Given the description of an element on the screen output the (x, y) to click on. 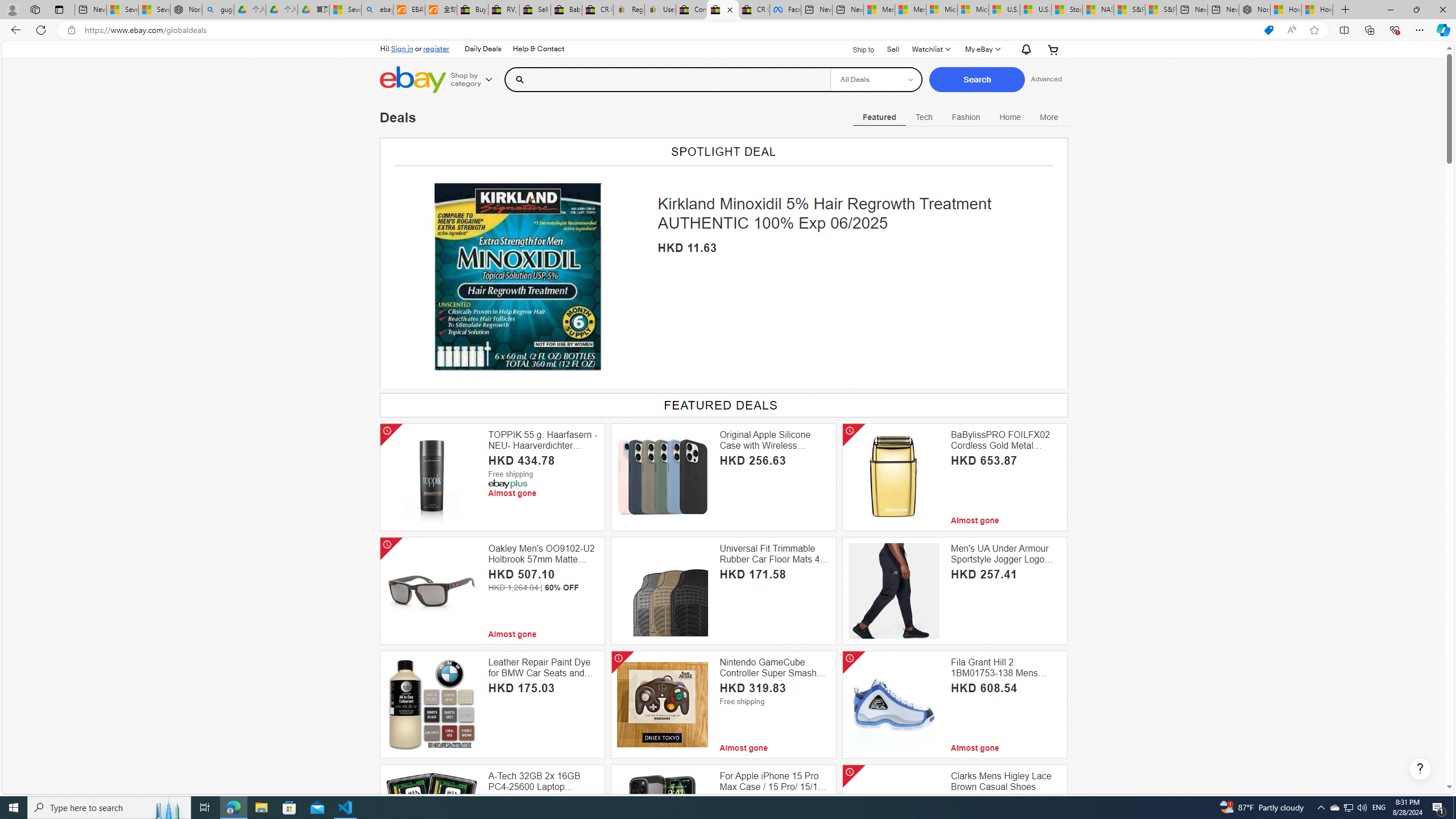
How to Use a Monitor With Your Closed Laptop (1317, 9)
Notifications (1023, 49)
Expand Cart (1052, 49)
Daily Deals on eBay | Best deals and Free Shipping (722, 9)
Tech (923, 116)
AutomationID: gh-eb-Alerts (1025, 49)
My eBay (982, 49)
Ship to (855, 48)
Watchlist (930, 49)
Fashion (966, 116)
Clarks Mens Higley Lace Brown Casual Shoes (1005, 781)
